Given the description of an element on the screen output the (x, y) to click on. 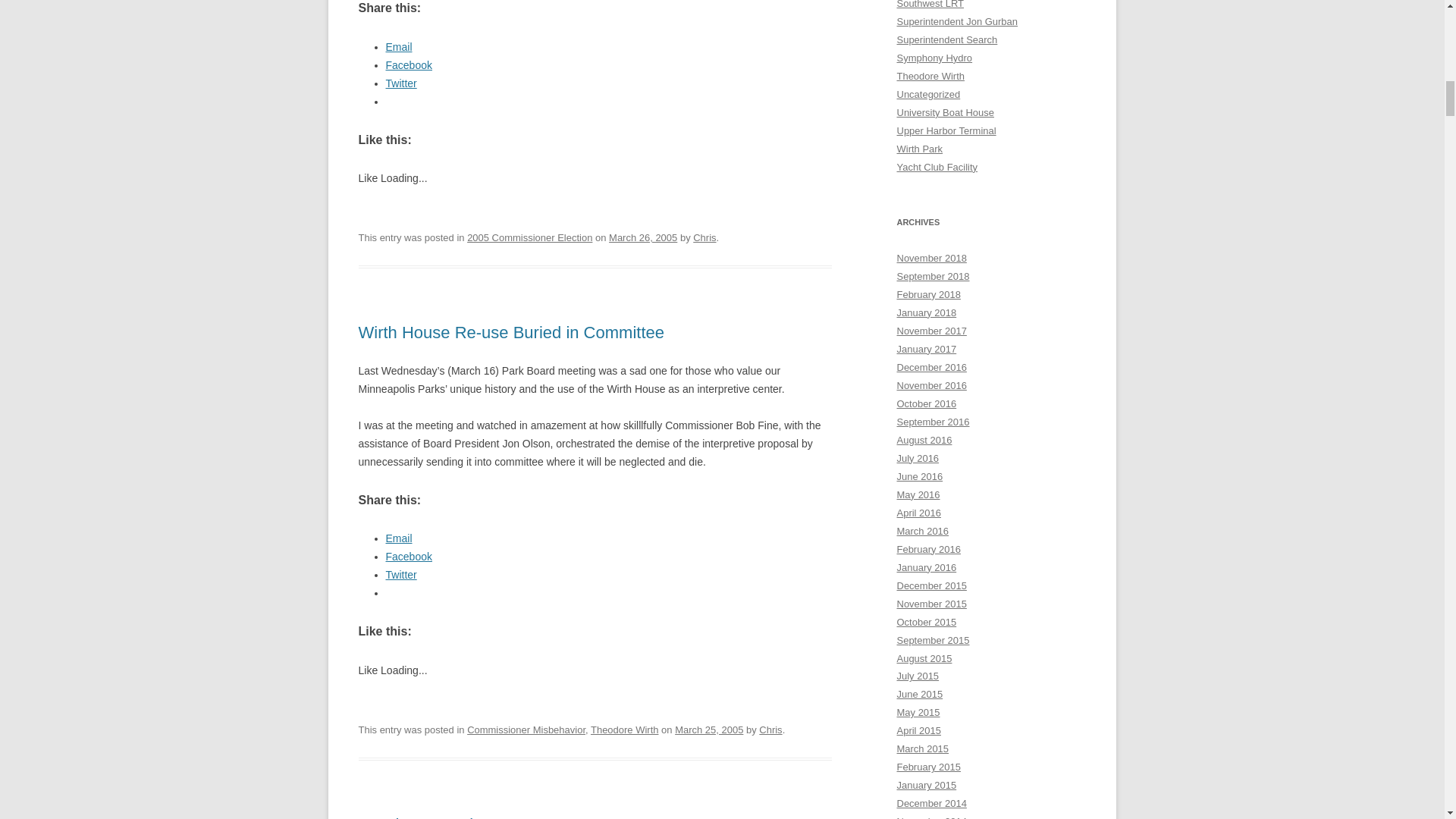
Click to share on Twitter (400, 574)
Click to share on Facebook (407, 64)
7:59 pm (642, 237)
Twitter (400, 82)
March 26, 2005 (642, 237)
Email (398, 46)
Chris (704, 237)
2005 Commissioner Election (529, 237)
Facebook (407, 64)
Click to share on Facebook (407, 556)
Click to share on Twitter (400, 82)
Click to email this to a friend (398, 538)
Click to email this to a friend (398, 46)
View all posts by Chris (704, 237)
